Given the description of an element on the screen output the (x, y) to click on. 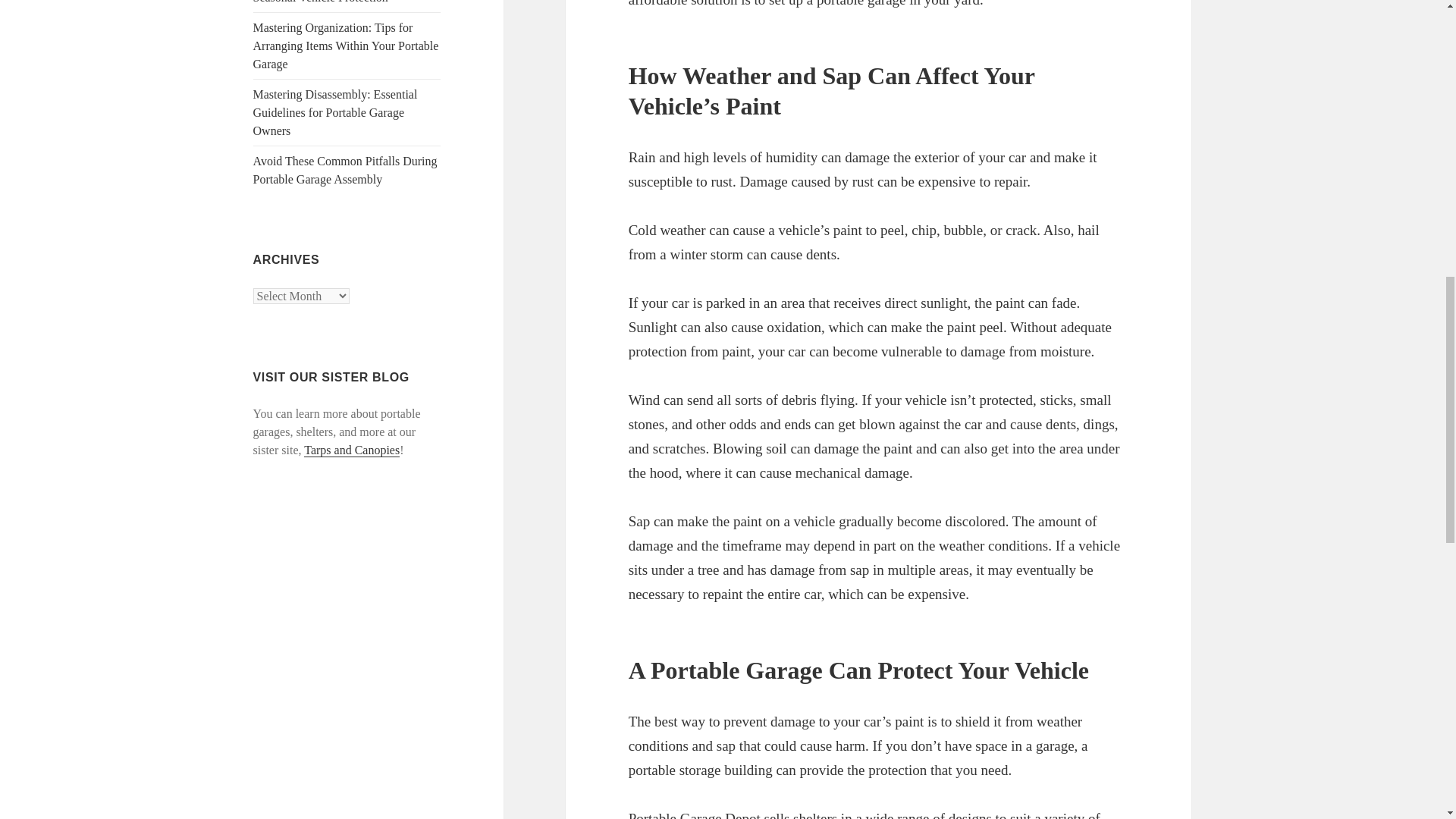
Tarps and Canopies (351, 450)
Tarps and Canopies (351, 450)
Avoid These Common Pitfalls During Portable Garage Assembly (345, 169)
Seasonal Vehicle Protection (320, 2)
